Given the description of an element on the screen output the (x, y) to click on. 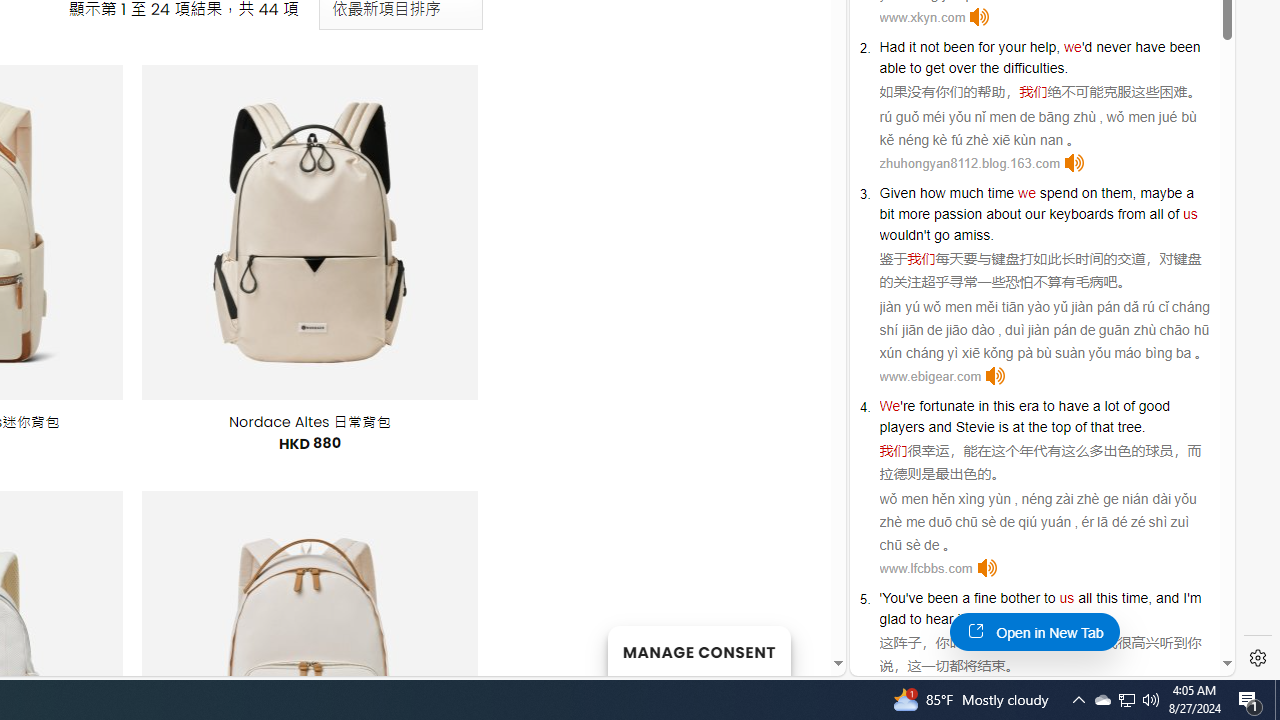
hear (939, 619)
in (983, 405)
to (1048, 405)
'm (1193, 597)
not (929, 46)
fortunate (947, 405)
www.xkyn.com (922, 17)
good (1153, 405)
